Given the description of an element on the screen output the (x, y) to click on. 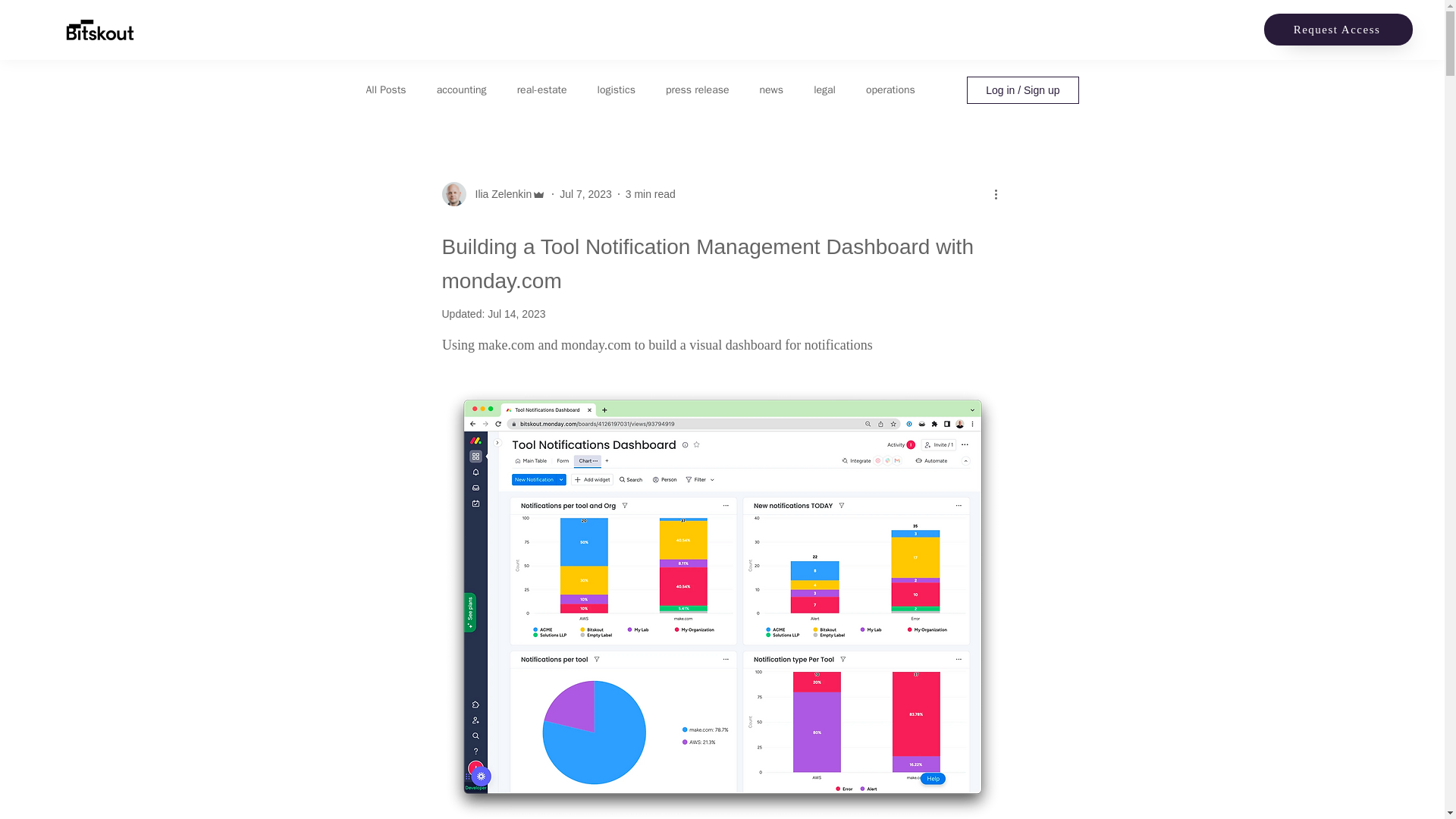
operations (890, 90)
legal (824, 90)
Jul 7, 2023 (585, 193)
logistics (615, 90)
news (772, 90)
3 min read (650, 193)
accounting (461, 90)
real-estate (541, 90)
Request Access (1337, 29)
Ilia Zelenkin (498, 194)
